Given the description of an element on the screen output the (x, y) to click on. 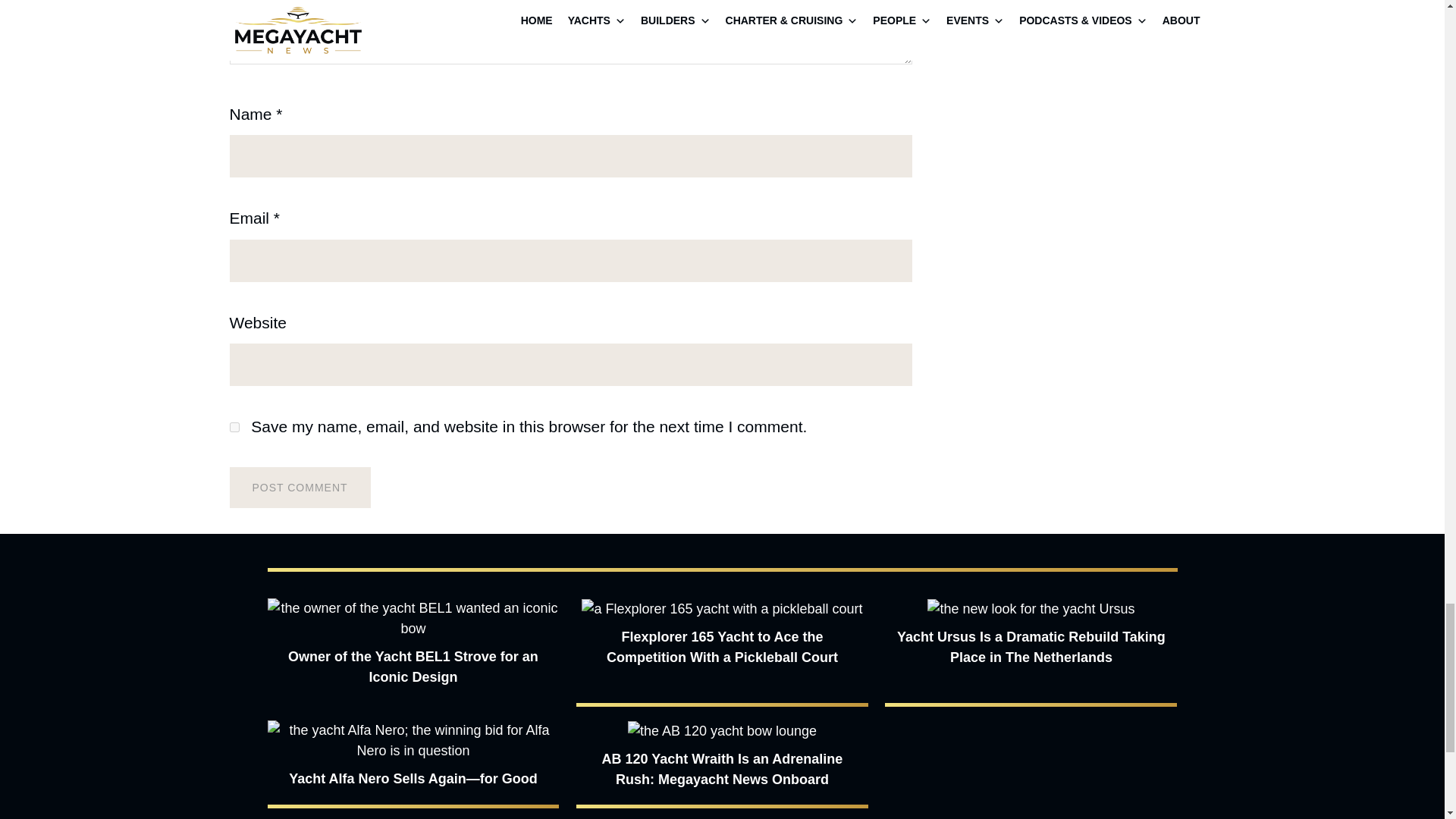
yes (233, 427)
Post Comment (298, 486)
